Given the description of an element on the screen output the (x, y) to click on. 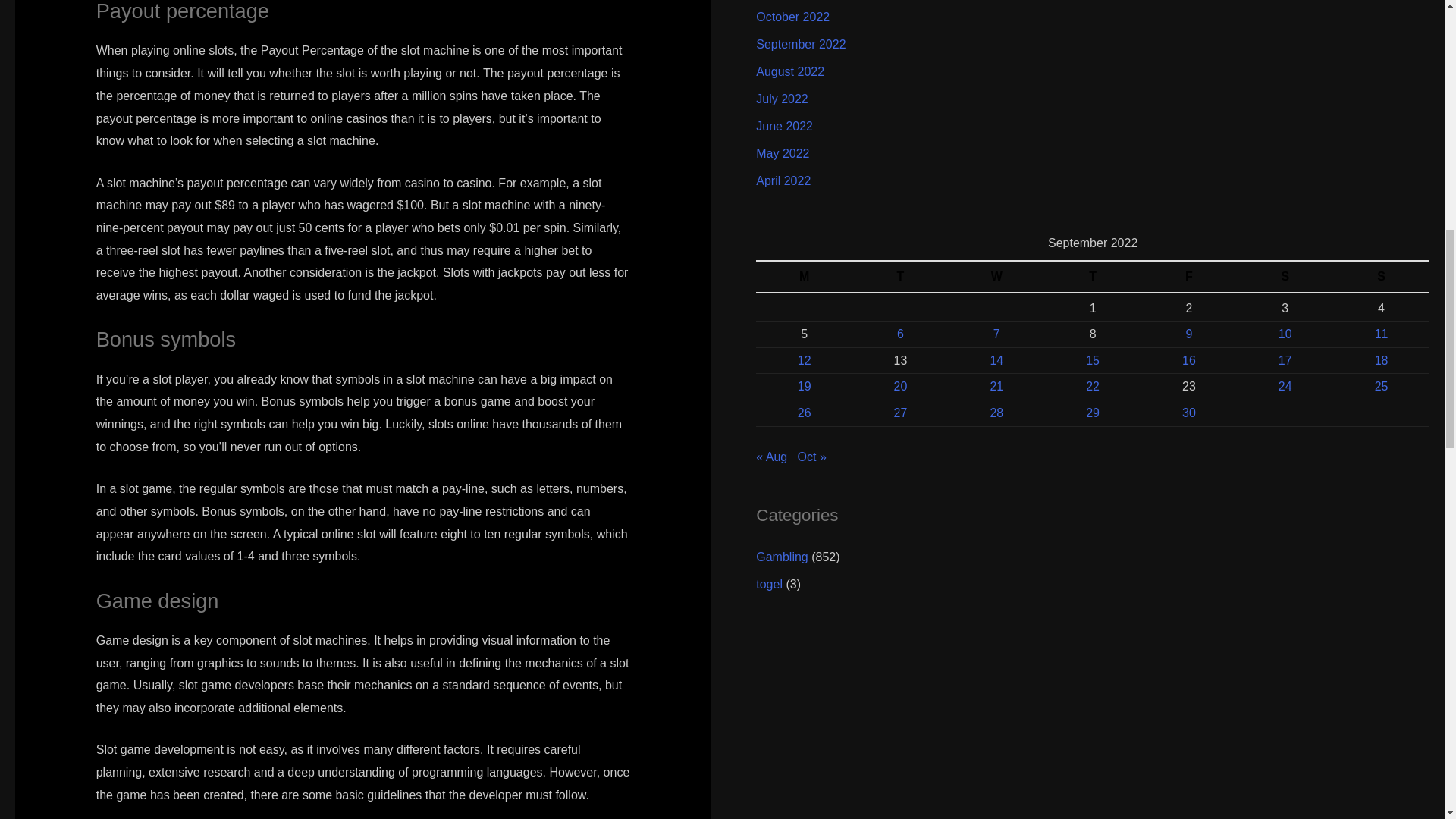
Tuesday (900, 276)
August 2022 (789, 71)
Friday (1188, 276)
Thursday (1093, 276)
Monday (803, 276)
October 2022 (792, 16)
Sunday (1381, 276)
Saturday (1284, 276)
Wednesday (997, 276)
September 2022 (800, 43)
